Given the description of an element on the screen output the (x, y) to click on. 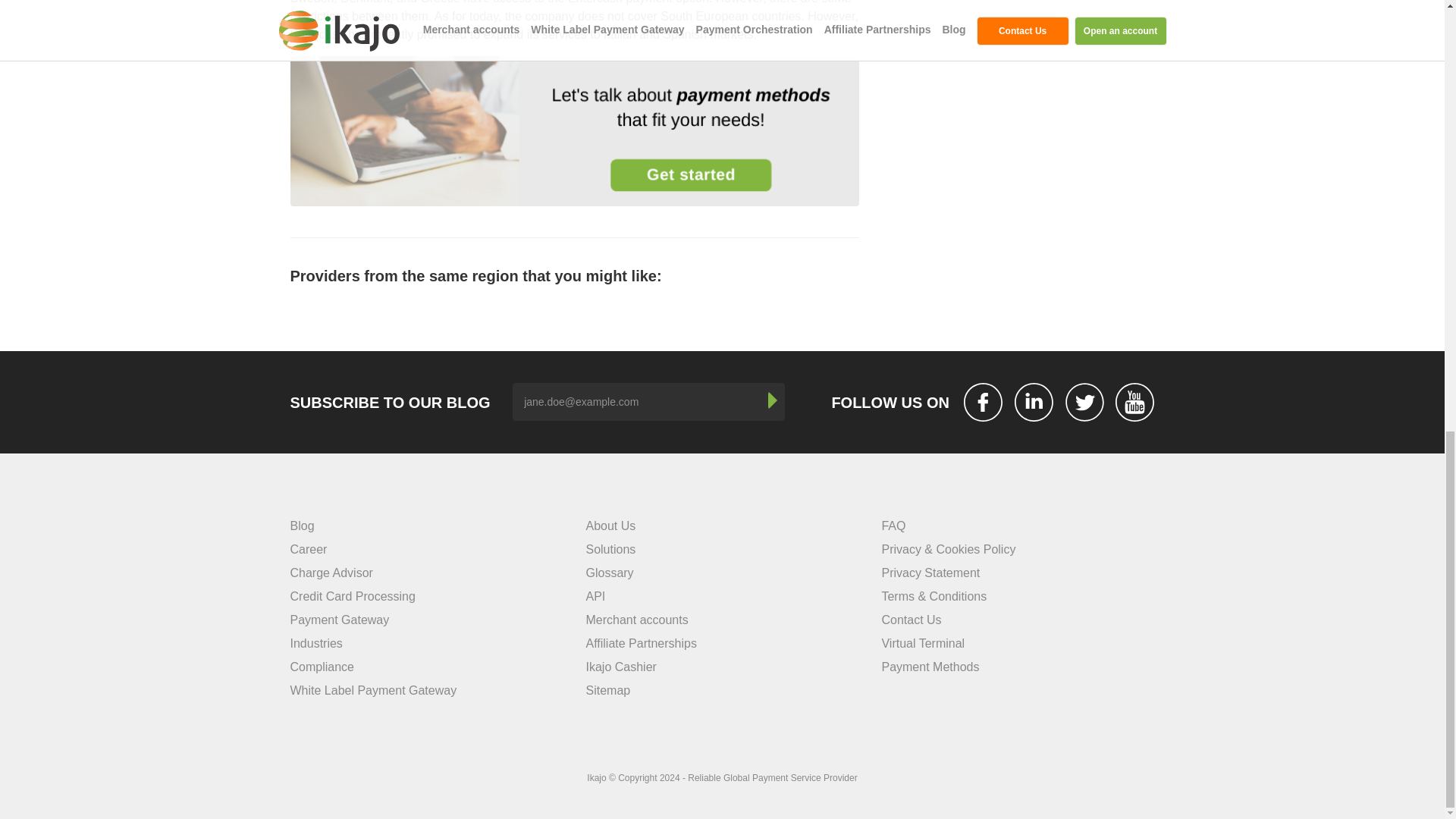
Solutions (609, 549)
Compliance (321, 666)
Blog (301, 525)
Solutions (609, 549)
Charge Advisor (330, 572)
Merchant accounts (636, 619)
White Label Payment Gateway (373, 689)
About Us (609, 525)
Industries (315, 643)
Glossary (609, 572)
